Given the description of an element on the screen output the (x, y) to click on. 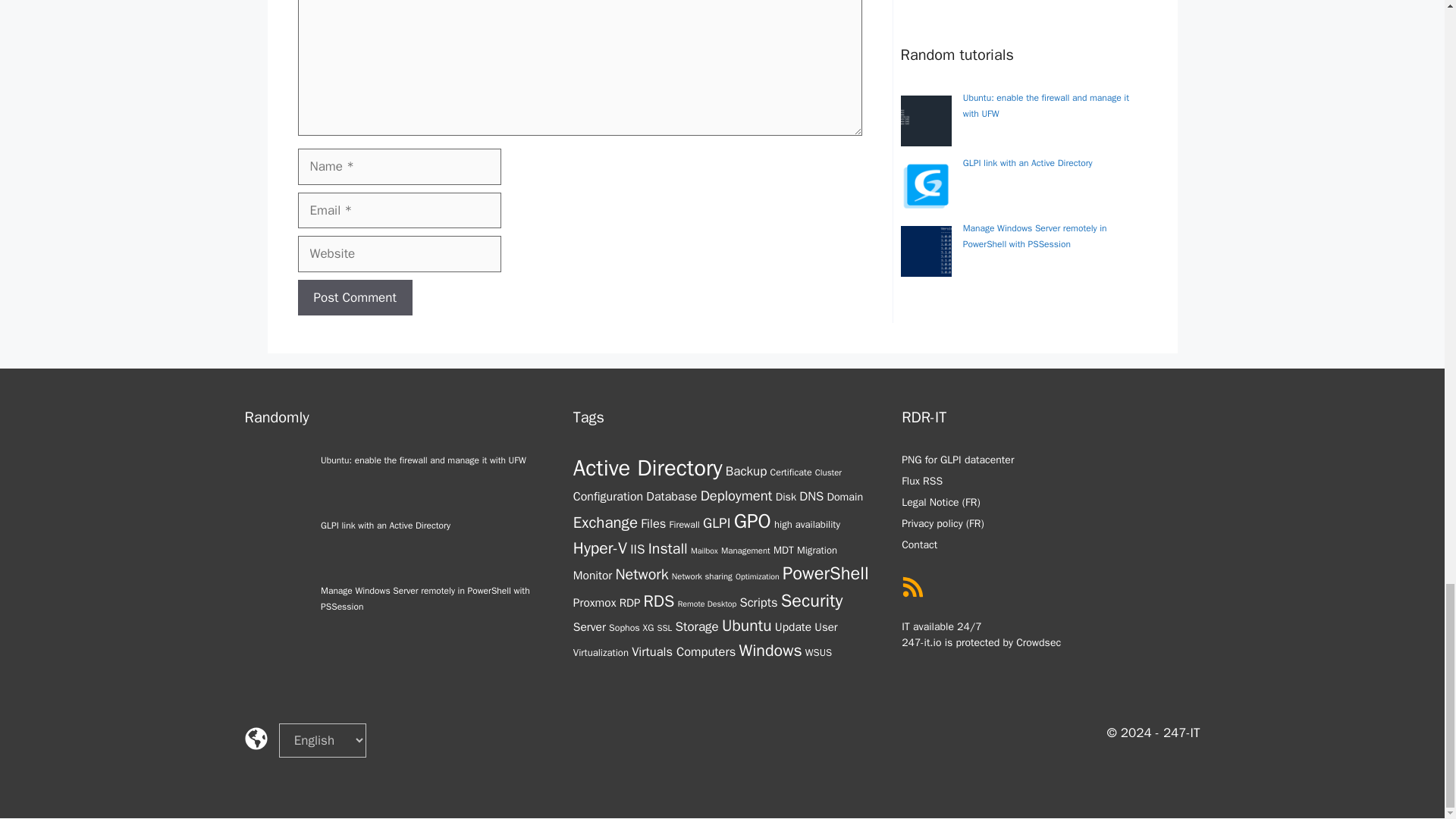
Post Comment (354, 298)
